Given the description of an element on the screen output the (x, y) to click on. 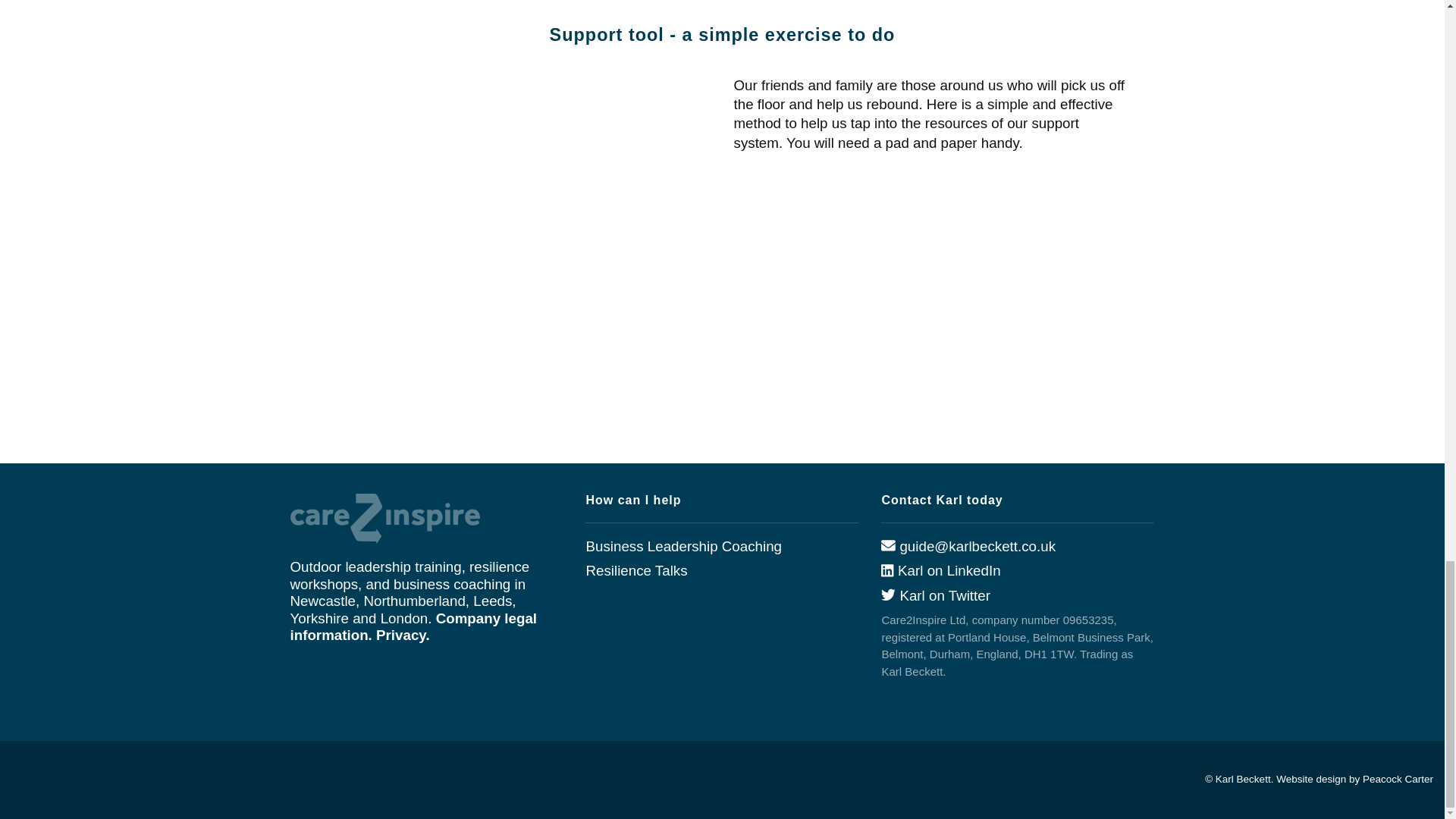
Karl on Twitter (935, 595)
Resilience Talks (636, 570)
Privacy. (402, 634)
Karl on LinkedIn (940, 570)
Website design agency in Newcastle upon Tyne (1354, 778)
Website design by Peacock Carter (1354, 778)
Company legal information. (413, 626)
Business Leadership Coaching (683, 546)
